Given the description of an element on the screen output the (x, y) to click on. 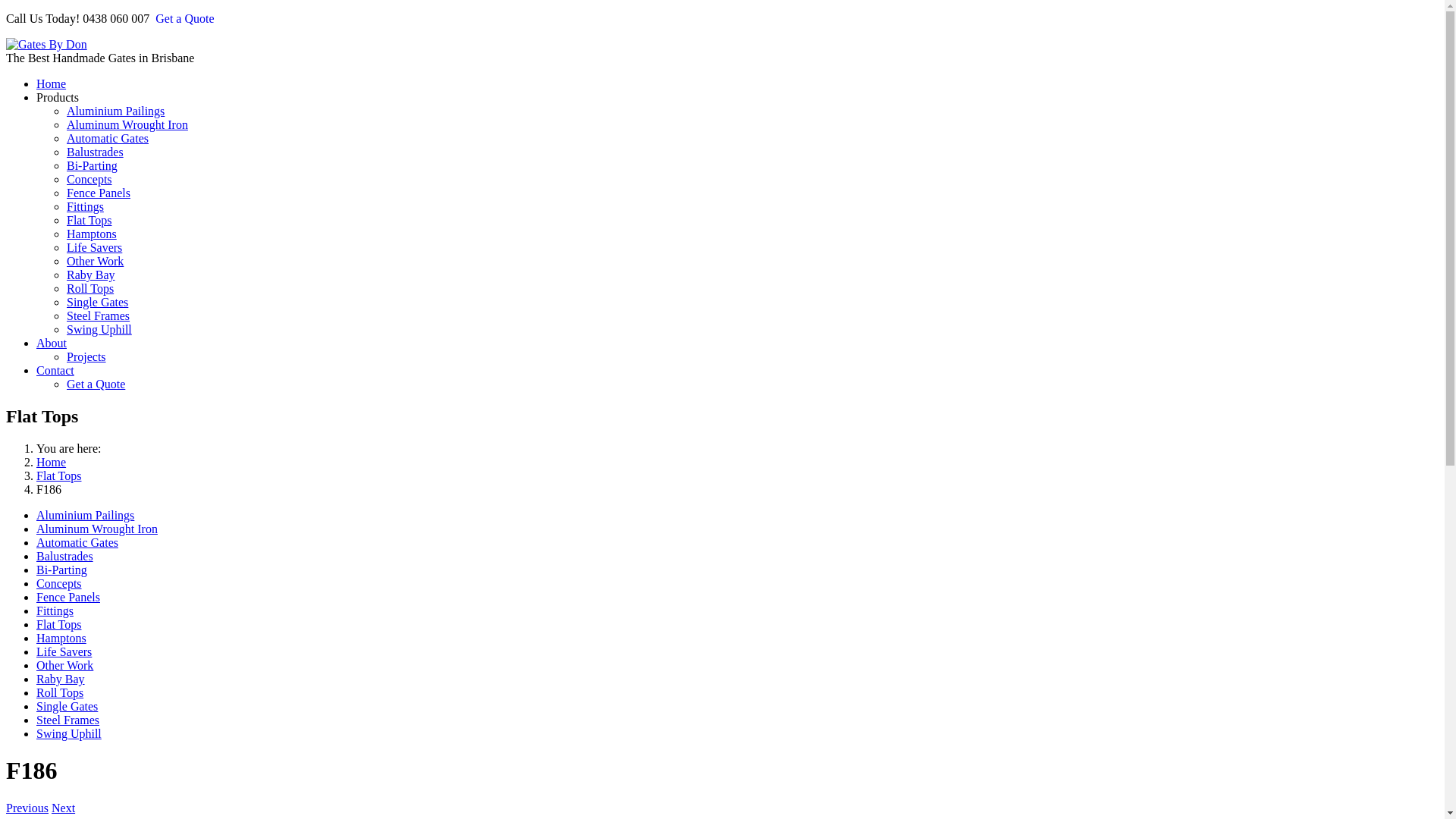
Concepts Element type: text (89, 178)
Raby Bay Element type: text (90, 274)
Roll Tops Element type: text (89, 288)
Fence Panels Element type: text (68, 596)
Automatic Gates Element type: text (77, 542)
Home Element type: text (50, 461)
Products Element type: text (57, 97)
Get a Quote Element type: text (184, 18)
Roll Tops Element type: text (59, 692)
Steel Frames Element type: text (97, 315)
Previous Element type: text (27, 807)
Home Element type: text (50, 83)
Single Gates Element type: text (97, 301)
Aluminum Wrought Iron Element type: text (96, 528)
Fence Panels Element type: text (98, 192)
Steel Frames Element type: text (67, 719)
Get a Quote Element type: text (95, 383)
Flat Tops Element type: text (58, 624)
Fittings Element type: text (84, 206)
Concepts Element type: text (58, 583)
Bi-Parting Element type: text (61, 569)
Swing Uphill Element type: text (68, 733)
Raby Bay Element type: text (60, 678)
Hamptons Element type: text (91, 233)
Bi-Parting Element type: text (91, 165)
Life Savers Element type: text (94, 247)
Automatic Gates Element type: text (107, 137)
Aluminium Pailings Element type: text (85, 514)
Next Element type: text (63, 807)
Single Gates Element type: text (66, 705)
Balustrades Element type: text (94, 151)
Fittings Element type: text (54, 610)
Hamptons Element type: text (61, 637)
Flat Tops Element type: text (88, 219)
Balustrades Element type: text (64, 555)
Projects Element type: text (86, 356)
Contact Element type: text (55, 370)
Other Work Element type: text (64, 664)
Other Work Element type: text (94, 260)
Life Savers Element type: text (63, 651)
Flat Tops Element type: text (58, 475)
About Element type: text (51, 342)
Swing Uphill Element type: text (98, 329)
Aluminium Pailings Element type: text (115, 110)
Aluminum Wrought Iron Element type: text (127, 124)
